Given the description of an element on the screen output the (x, y) to click on. 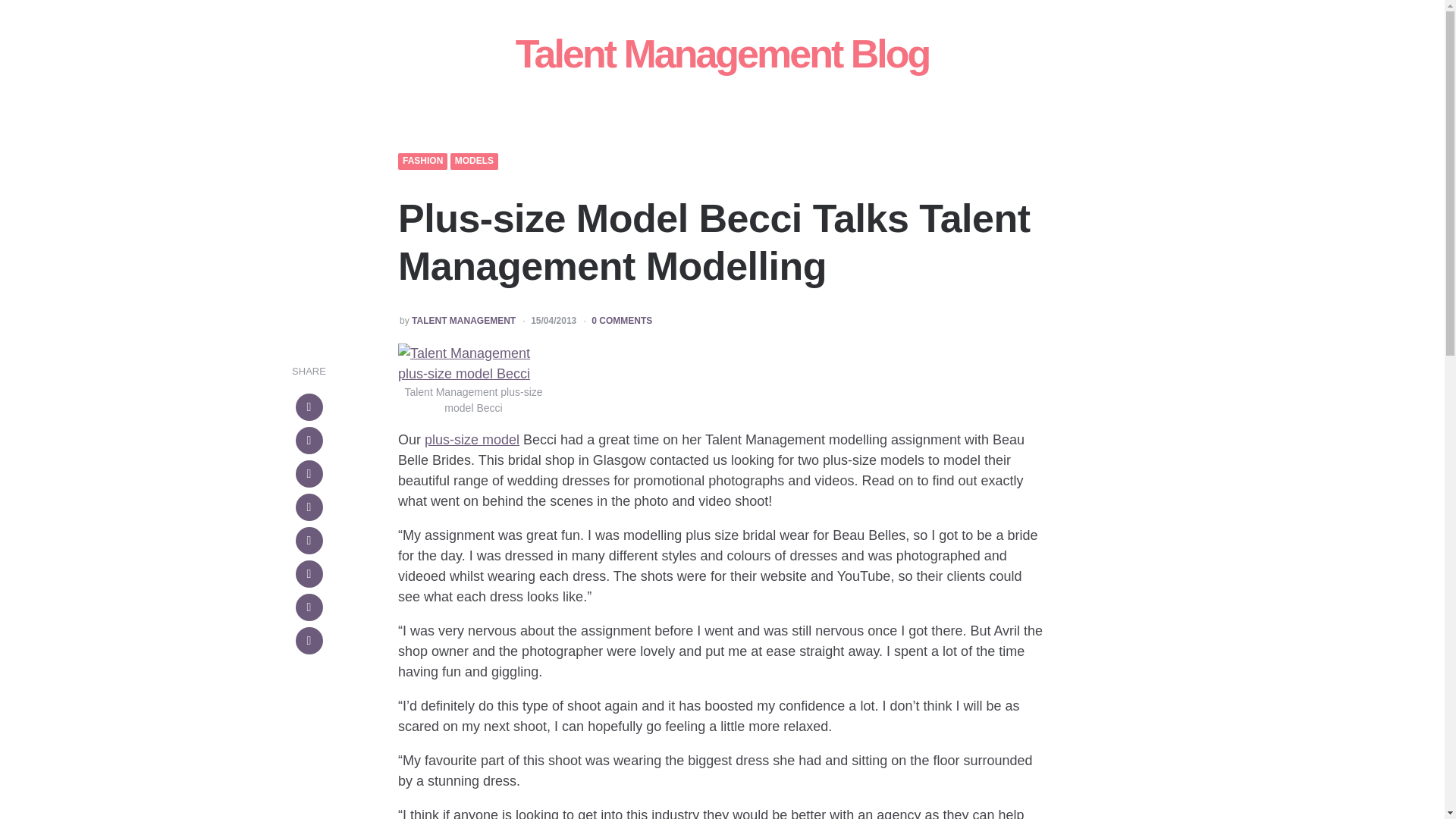
Plus-Size Modelling (472, 439)
Talent Management Blog (722, 53)
Talent Management plus-size model Becci (472, 363)
